Given the description of an element on the screen output the (x, y) to click on. 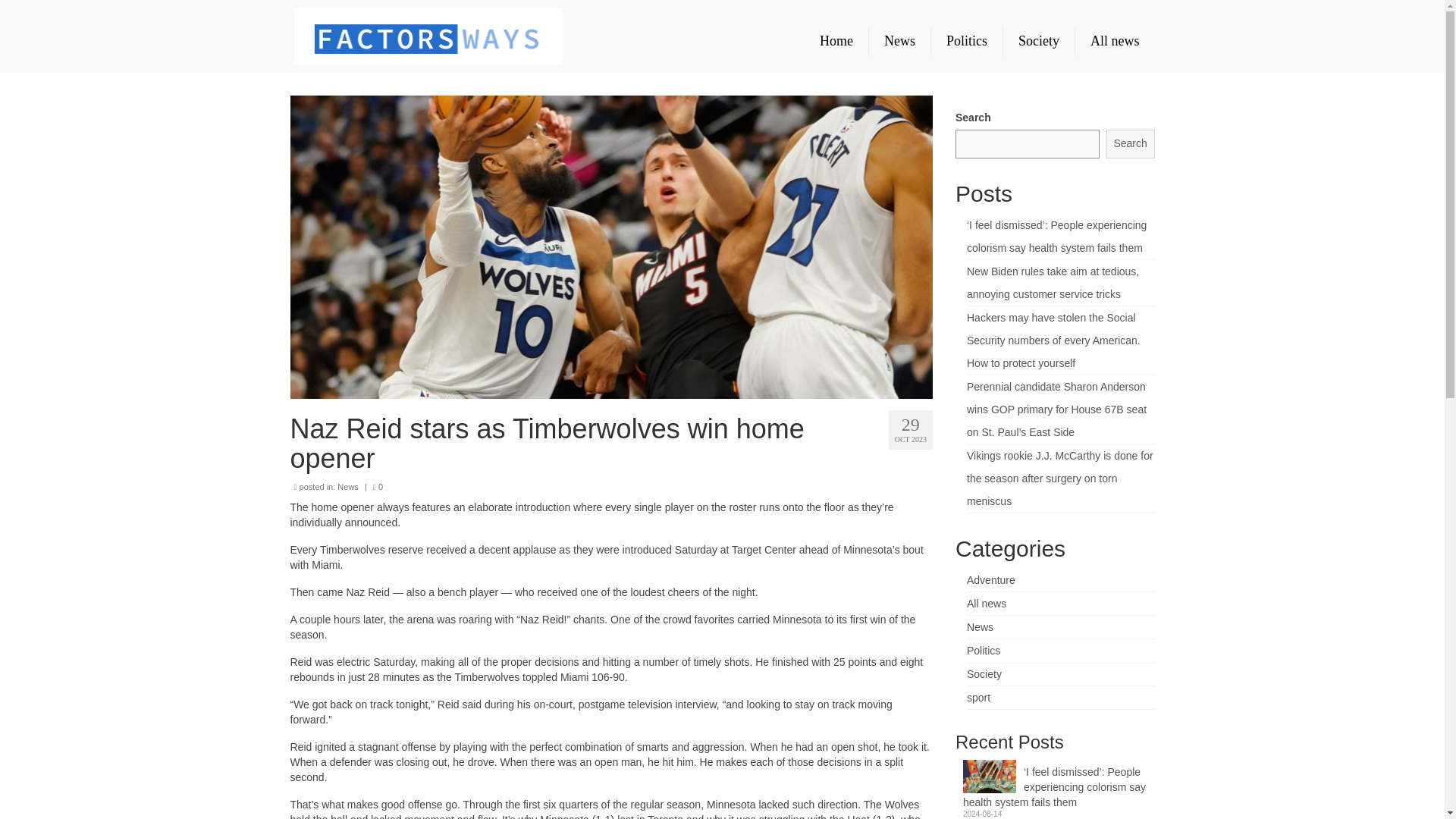
Search (1130, 143)
Politics (967, 40)
All news (1114, 40)
Society (983, 674)
News (347, 486)
Adventure (990, 580)
sport (978, 697)
